Given the description of an element on the screen output the (x, y) to click on. 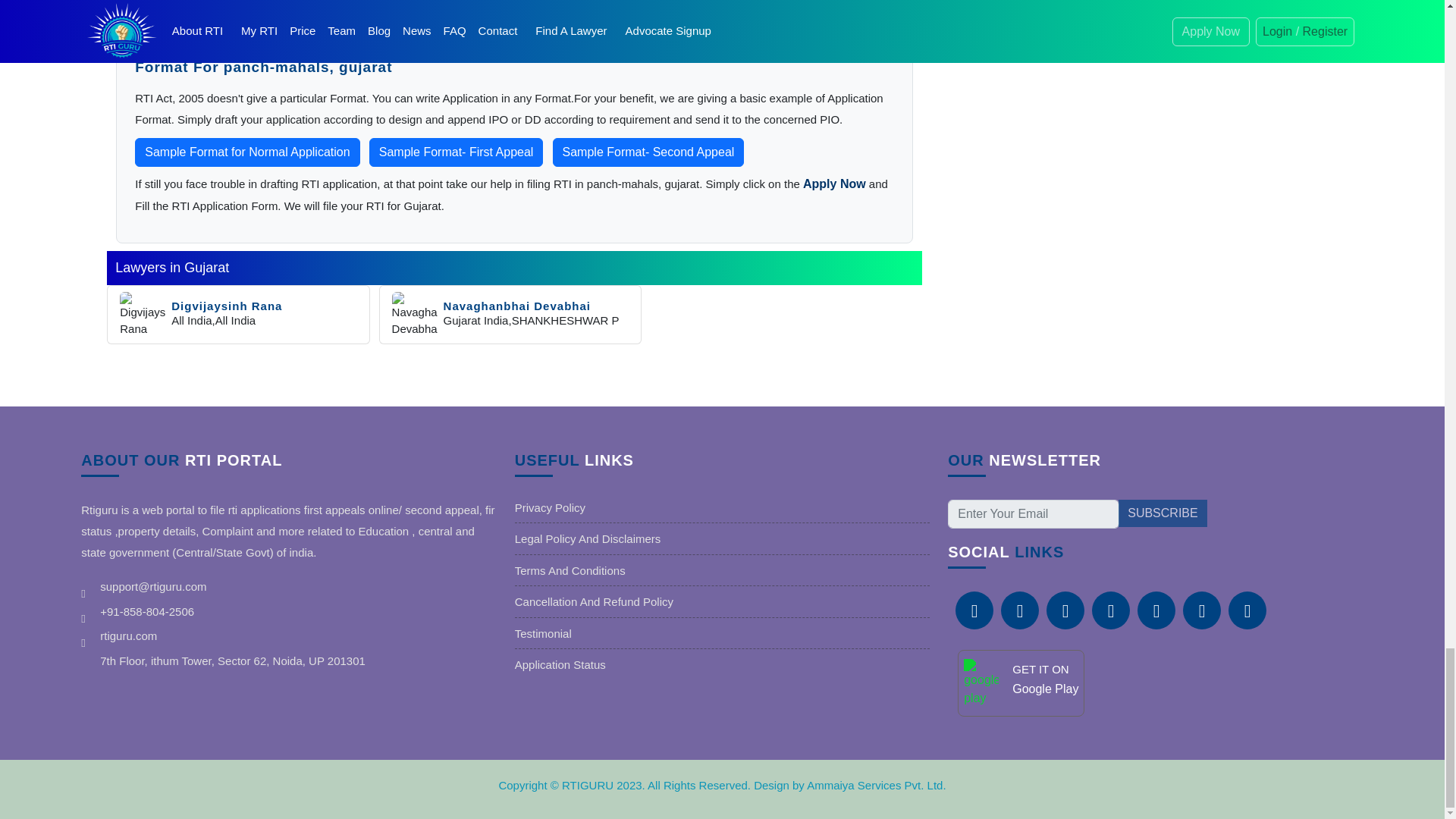
twitter (1065, 610)
youtube (1247, 610)
instagram (1201, 610)
pinterest (1110, 610)
facebook (973, 610)
linkedin (1020, 610)
quora (1155, 610)
